Given the description of an element on the screen output the (x, y) to click on. 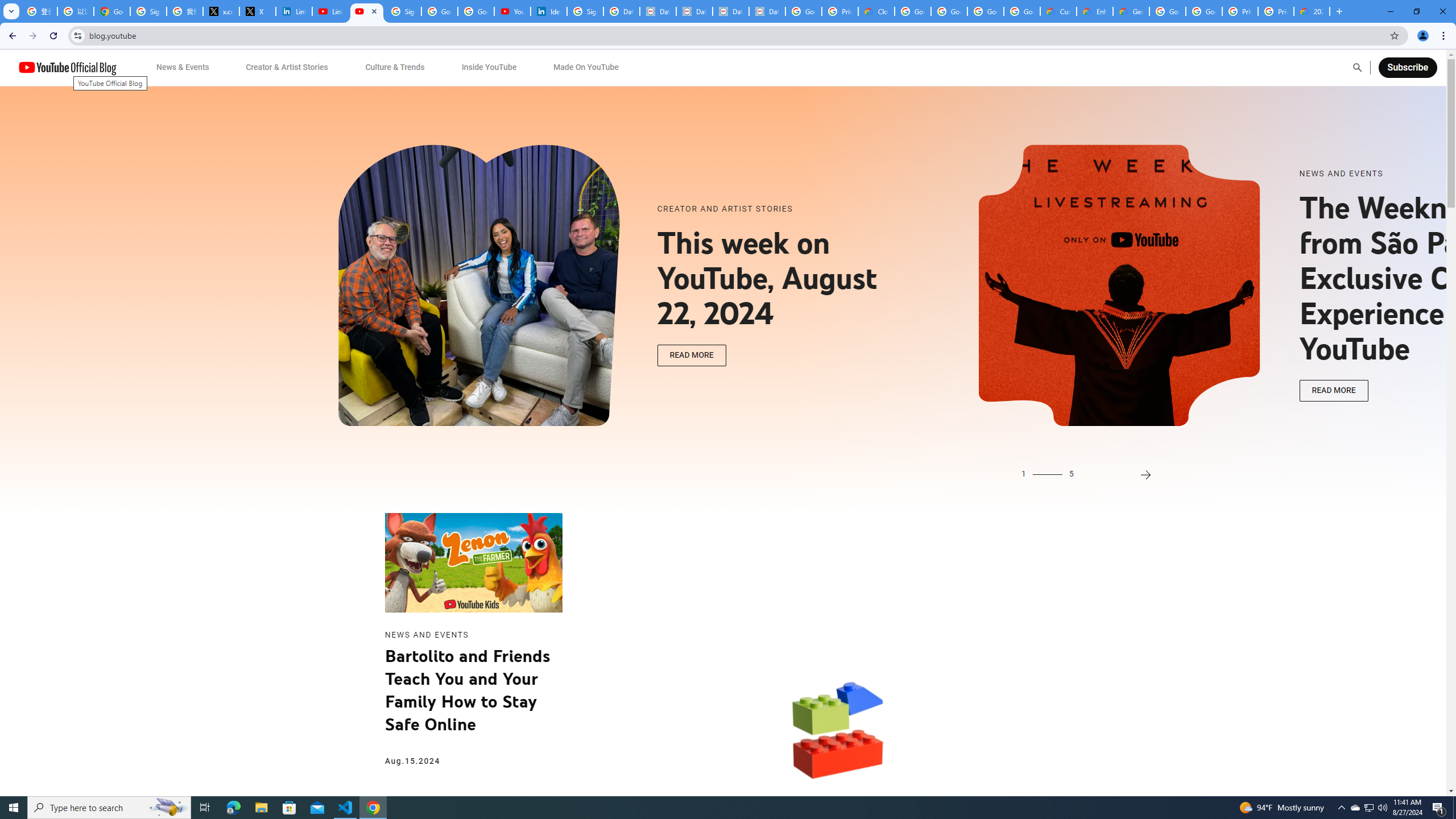
Google Cloud Platform (1167, 11)
Data Privacy Framework (657, 11)
LinkedIn - YouTube (330, 11)
Inside YouTube (488, 67)
Sign in - Google Accounts (148, 11)
Sign in - Google Accounts (585, 11)
Google Cloud Platform (1203, 11)
